Given the description of an element on the screen output the (x, y) to click on. 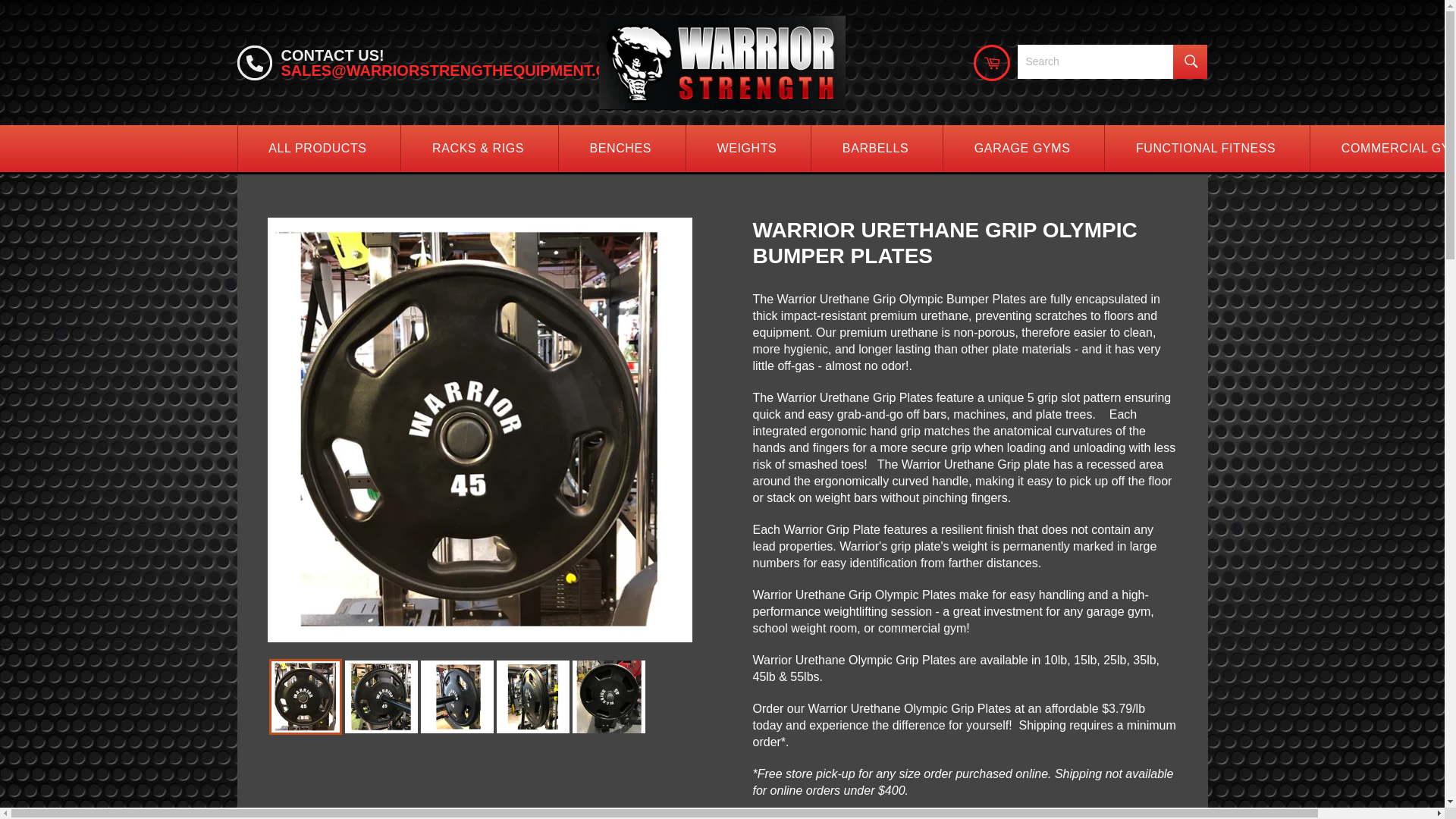
Cart (992, 62)
Search (1190, 60)
WEIGHTS (746, 148)
FUNCTIONAL FITNESS (1204, 148)
ALL PRODUCTS (316, 148)
BENCHES (619, 148)
GARAGE GYMS (1021, 148)
BARBELLS (874, 148)
